Given the description of an element on the screen output the (x, y) to click on. 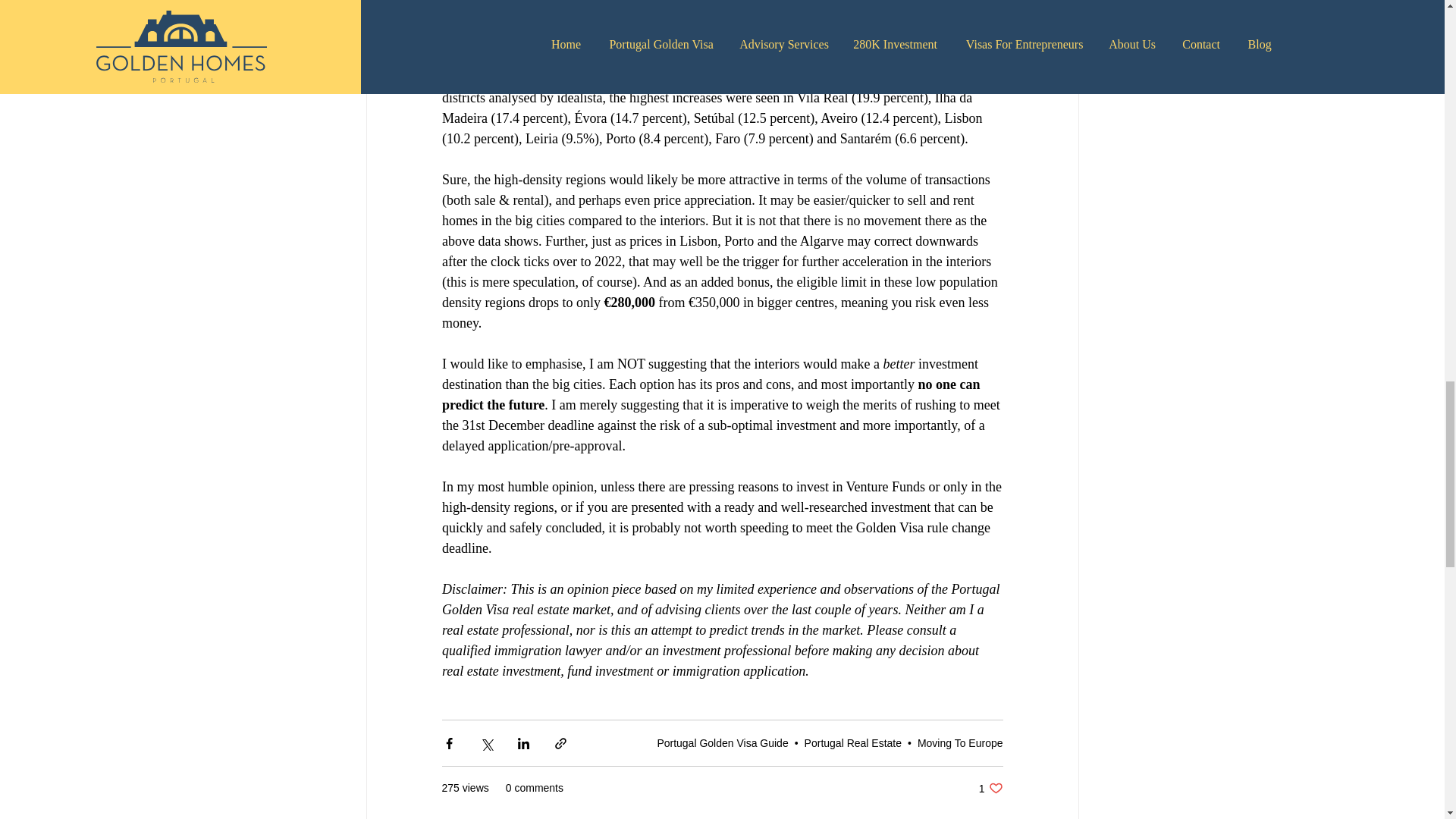
Portugal Golden Visa Guide (721, 743)
Portugal Real Estate (853, 743)
Idealista (990, 788)
Moving To Europe (598, 77)
